Given the description of an element on the screen output the (x, y) to click on. 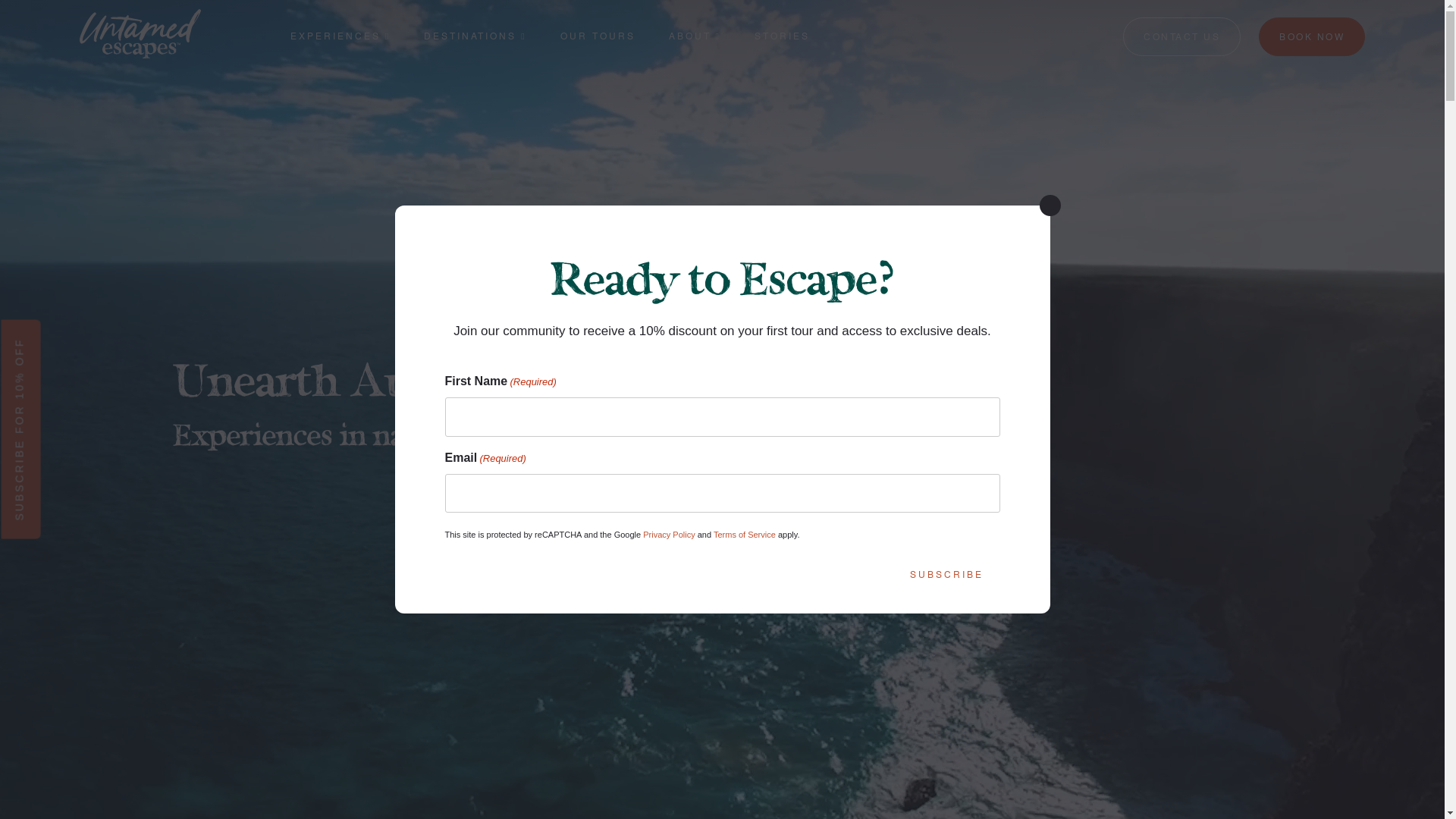
Click here to view the new site Element type: text (727, 417)
